Given the description of an element on the screen output the (x, y) to click on. 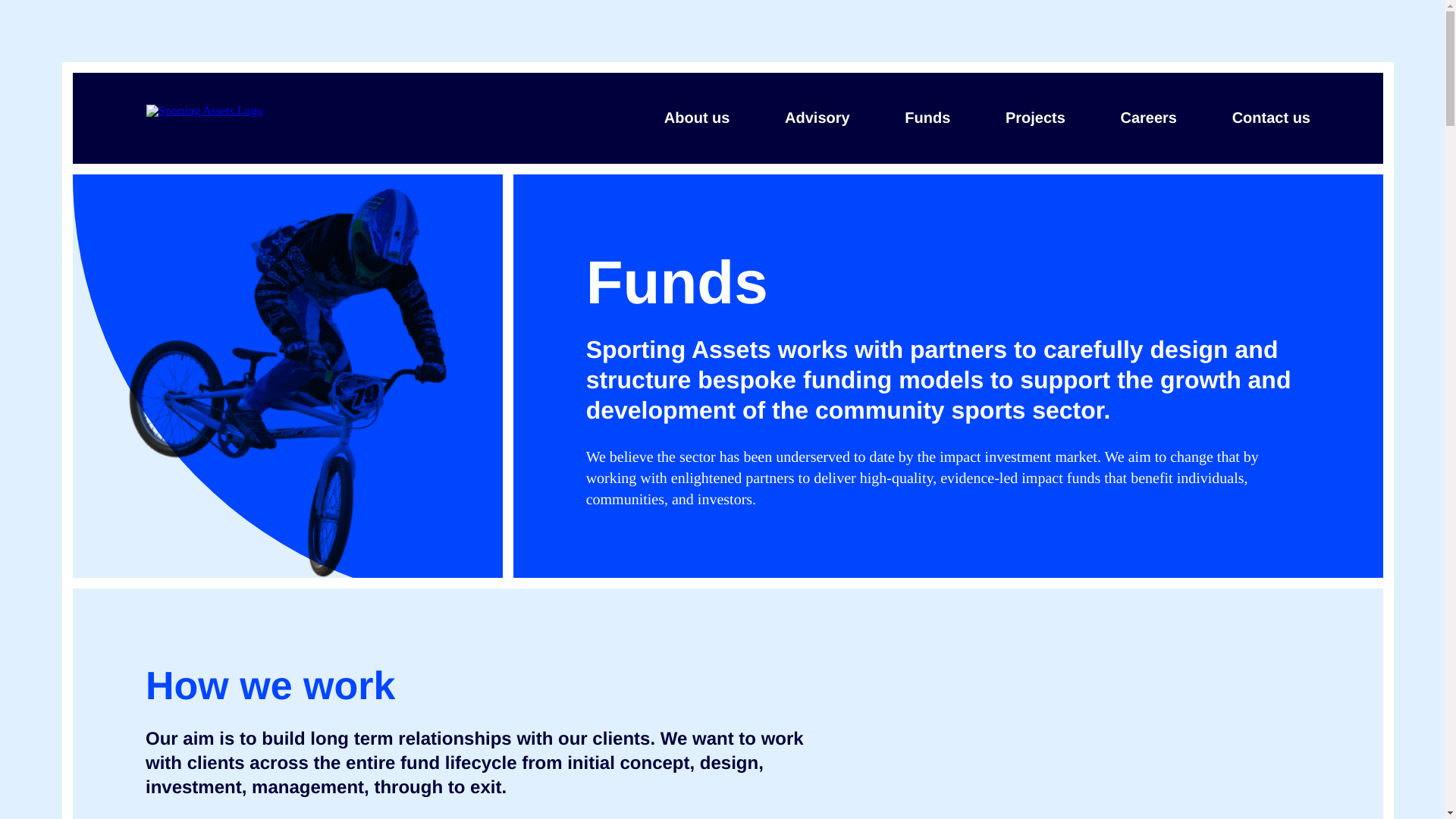
Advisory (817, 117)
Contact us (1265, 117)
Projects (1034, 117)
Funds (927, 117)
Careers (1148, 117)
About us (696, 117)
